Given the description of an element on the screen output the (x, y) to click on. 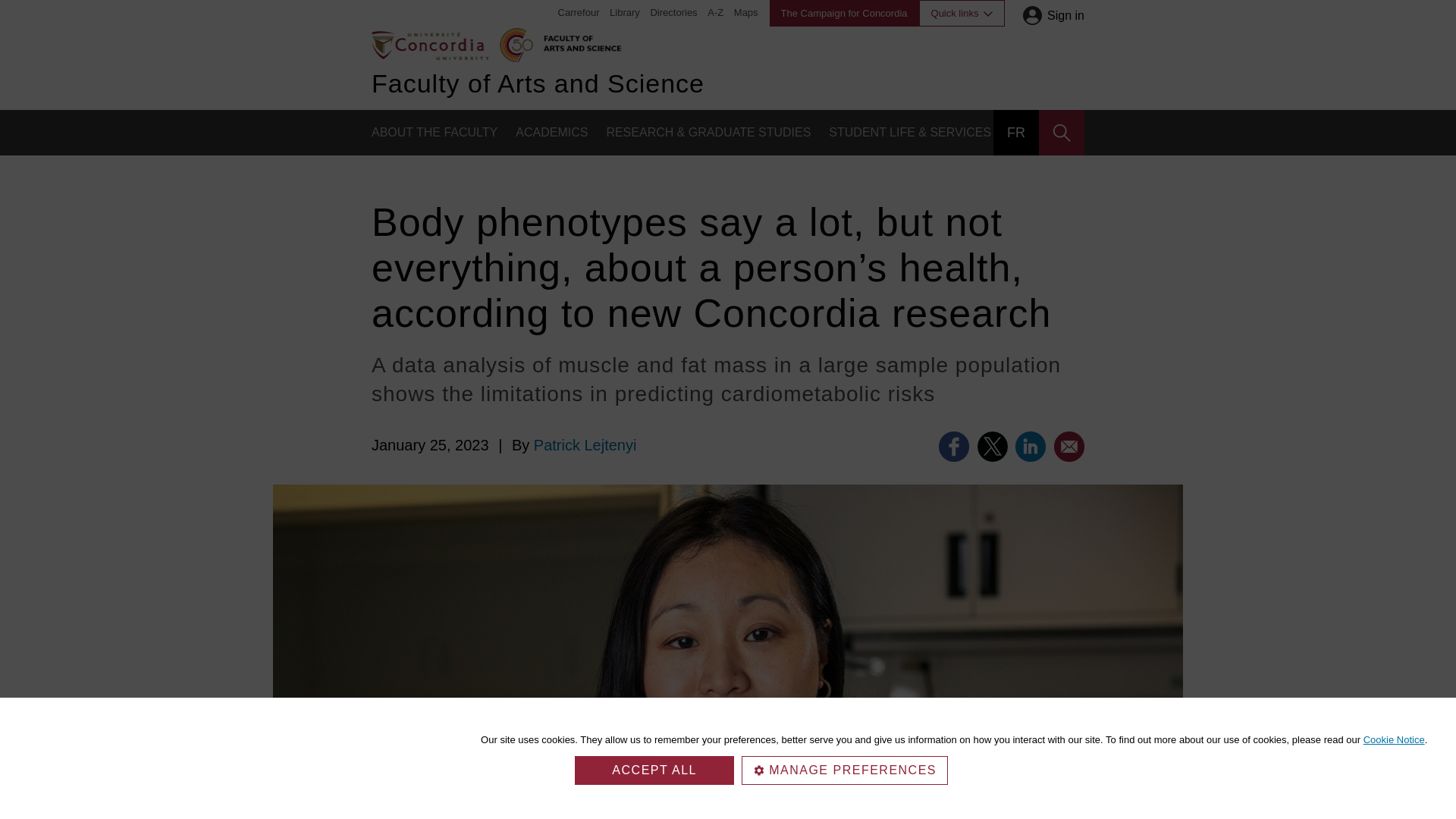
Email this story (1069, 446)
Share on LinkedIn (1029, 446)
Carrefour (578, 12)
Back to home (429, 44)
Share on Twitter (991, 446)
Share on Facebook (954, 446)
Faculty of Arts and Science (579, 41)
Cookie Notice (1393, 739)
ACCEPT ALL (654, 769)
MANAGE PREFERENCES (844, 769)
Library (625, 12)
